Given the description of an element on the screen output the (x, y) to click on. 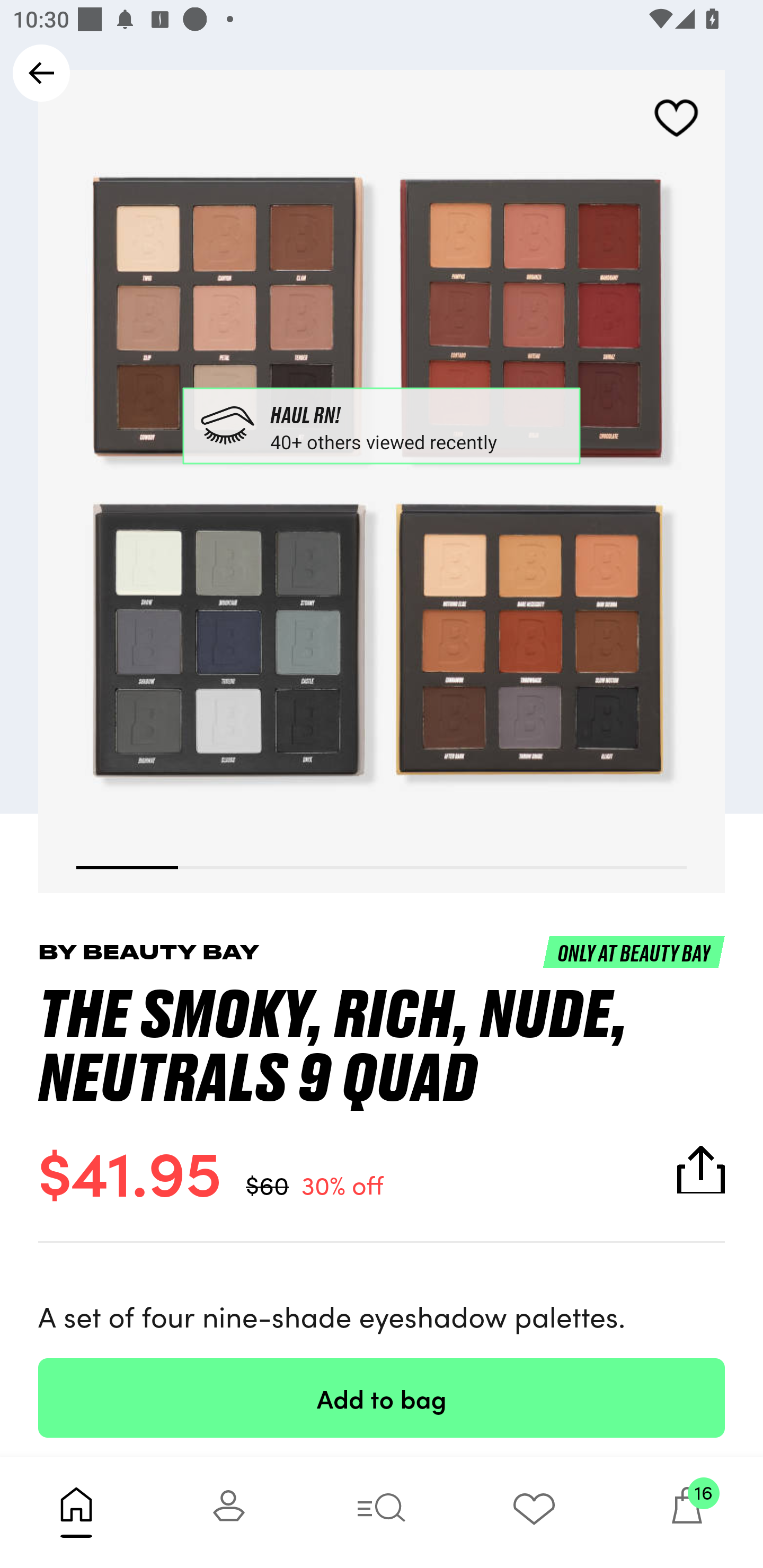
Add to bag (381, 1397)
16 (686, 1512)
